Given the description of an element on the screen output the (x, y) to click on. 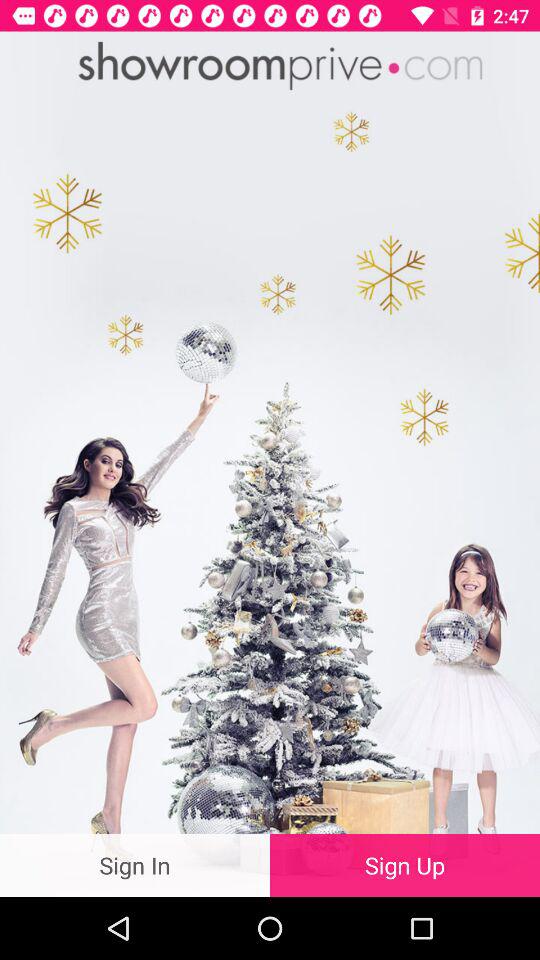
open the icon next to sign in item (405, 864)
